Given the description of an element on the screen output the (x, y) to click on. 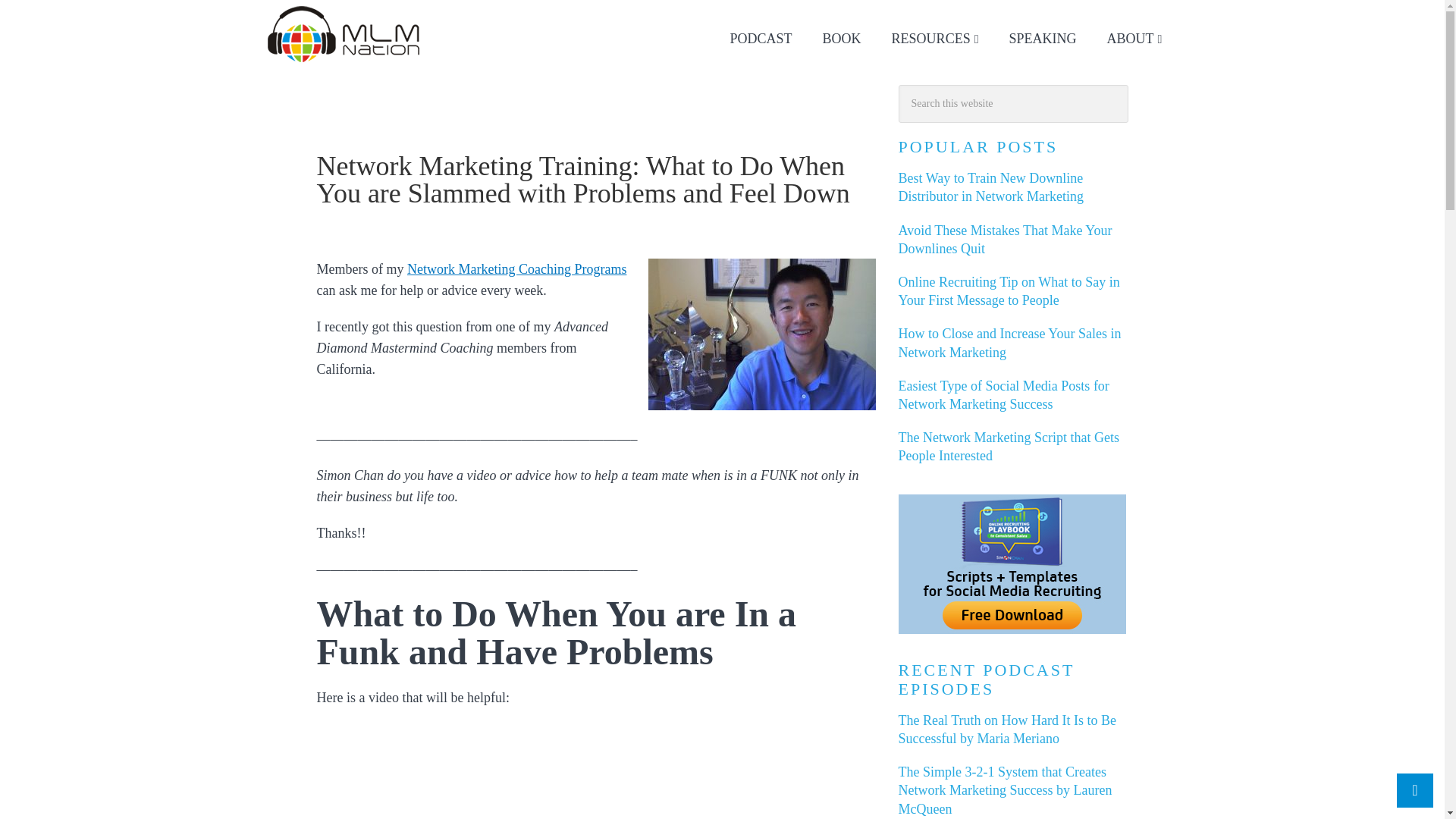
SPEAKING (1043, 38)
ABOUT (1134, 38)
The Consistency Pill book (842, 38)
BOOK (842, 38)
HOME (320, 120)
MLM NATION (344, 33)
Network Marketing Coaching Programs (516, 268)
PODCAST (761, 38)
RESOURCES (935, 38)
